Given the description of an element on the screen output the (x, y) to click on. 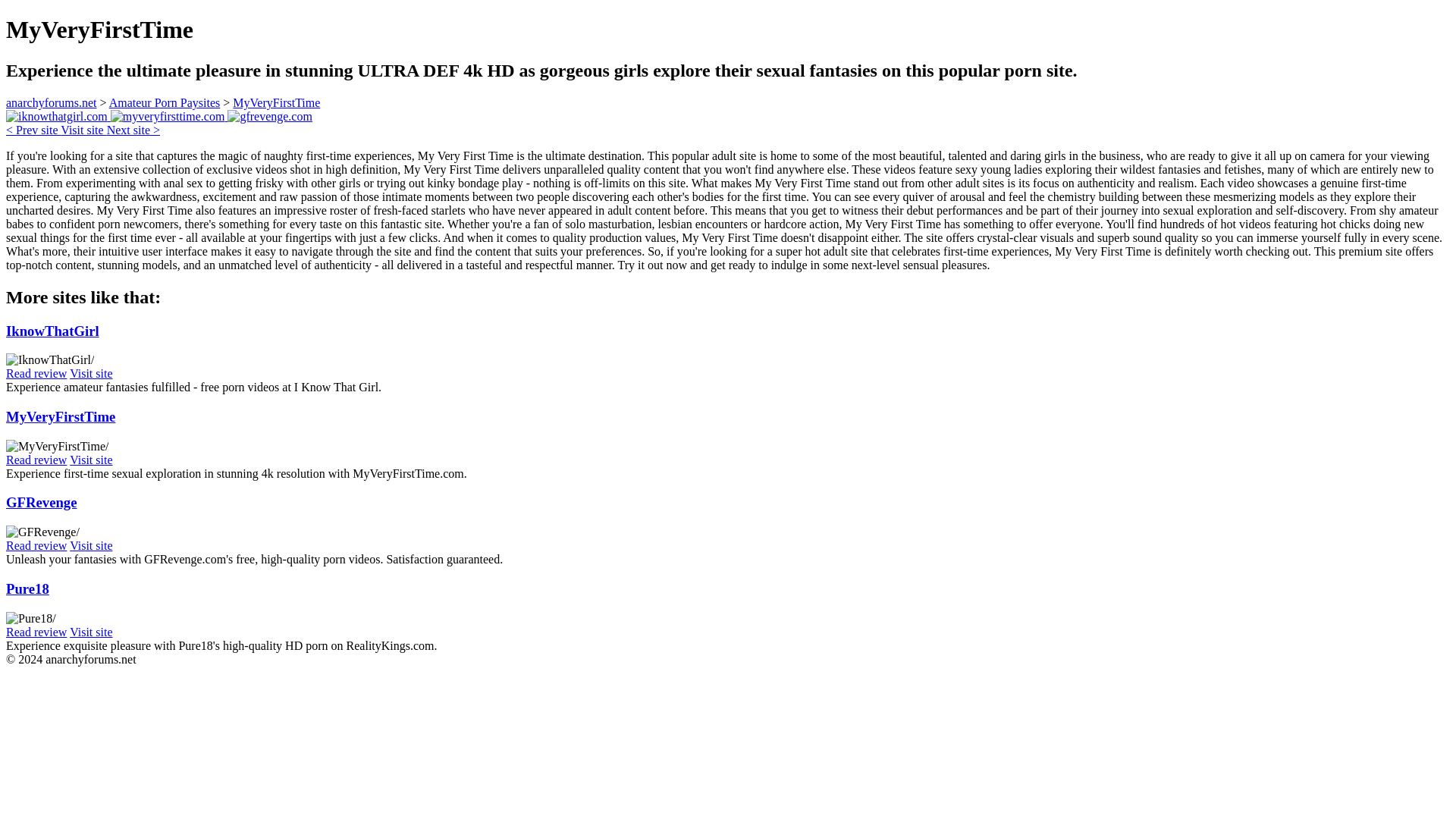
Pure18 (27, 588)
GFRevenge (41, 502)
Visit site (90, 545)
MyVeryFirstTime (60, 416)
Visit site (90, 631)
Read review (35, 545)
Visit site (90, 459)
Visit site (83, 129)
MyVeryFirstTime (276, 102)
Visit site (90, 373)
